Given the description of an element on the screen output the (x, y) to click on. 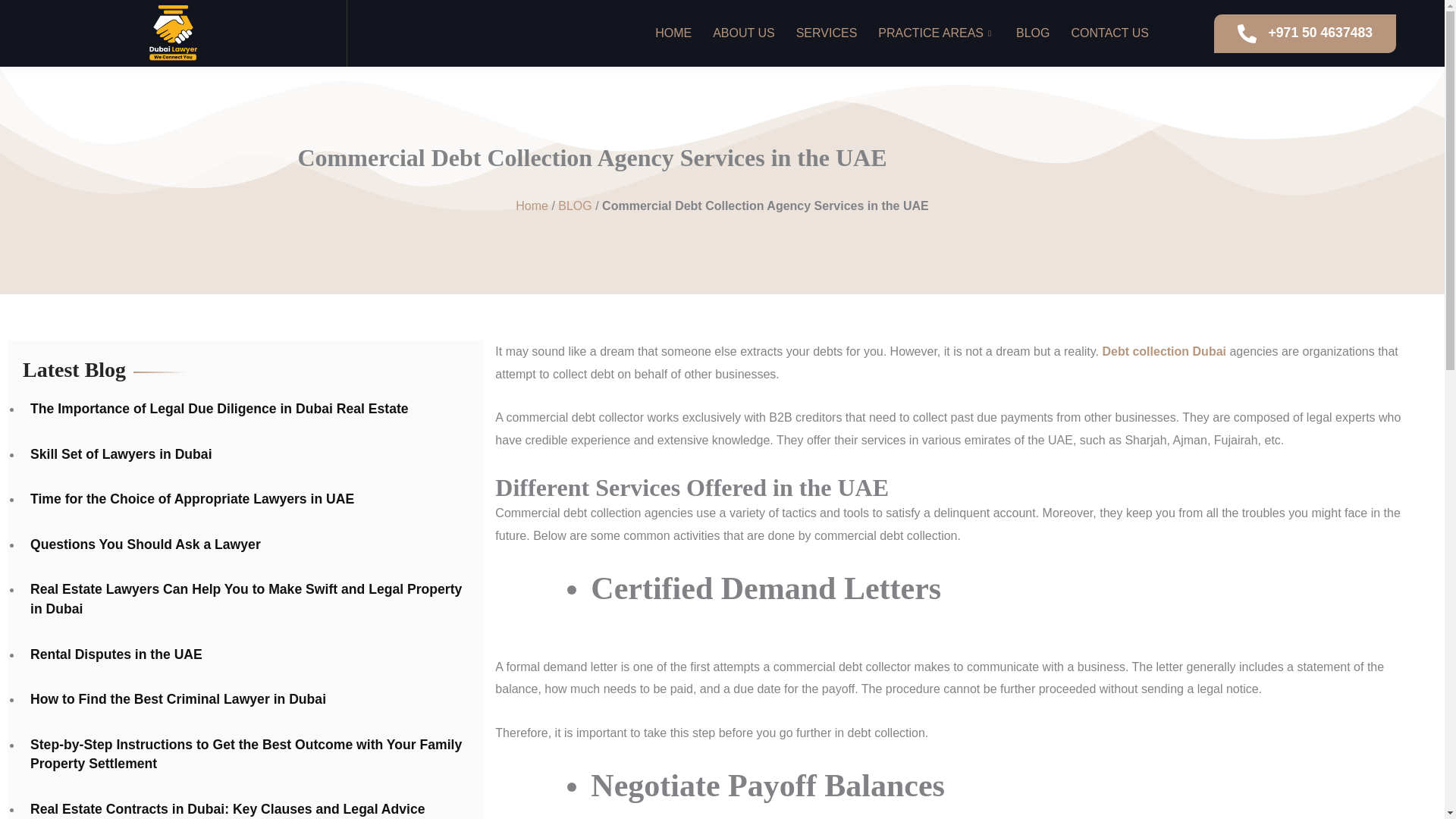
Real Estate Contracts in Dubai: Key Clauses and Legal Advice (224, 809)
Questions You Should Ask a Lawyer (141, 545)
SERVICES (825, 33)
BLOG (574, 205)
Debt collection Dubai (1163, 350)
PRACTICE AREAS (935, 33)
CONTACT US (1108, 33)
How to Find the Best Criminal Lawyer in Dubai (174, 700)
The Importance of Legal Due Diligence in Dubai Real Estate (216, 409)
Rental Disputes in the UAE (112, 655)
ABOUT US (742, 33)
Time for the Choice of Appropriate Lawyers in UAE (188, 499)
Skill Set of Lawyers in Dubai (117, 455)
